Given the description of an element on the screen output the (x, y) to click on. 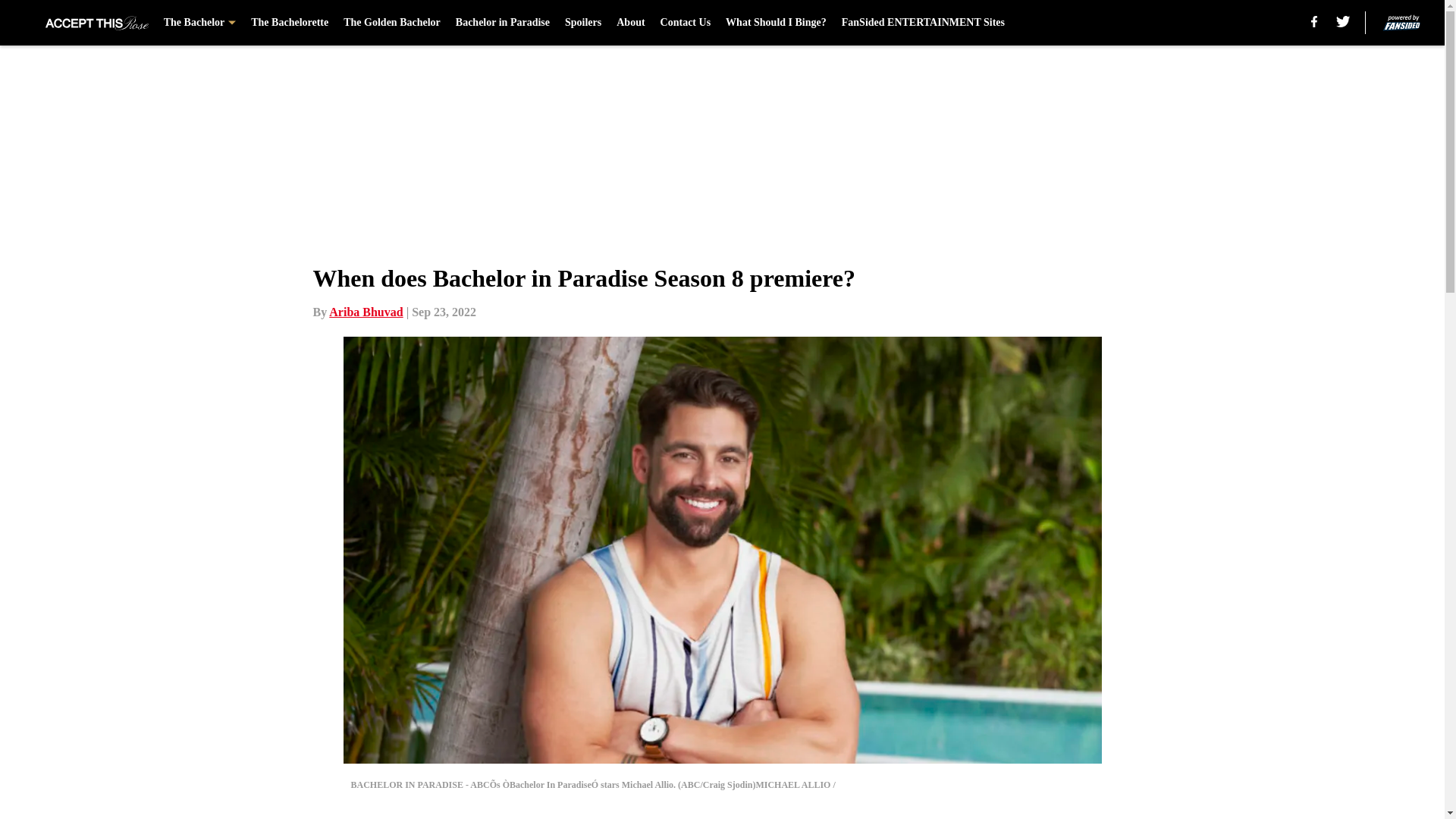
Bachelor in Paradise (502, 22)
About (630, 22)
The Golden Bachelor (392, 22)
Contact Us (686, 22)
Spoilers (582, 22)
Ariba Bhuvad (366, 311)
FanSided ENTERTAINMENT Sites (922, 22)
The Bachelorette (289, 22)
What Should I Binge? (776, 22)
